Given the description of an element on the screen output the (x, y) to click on. 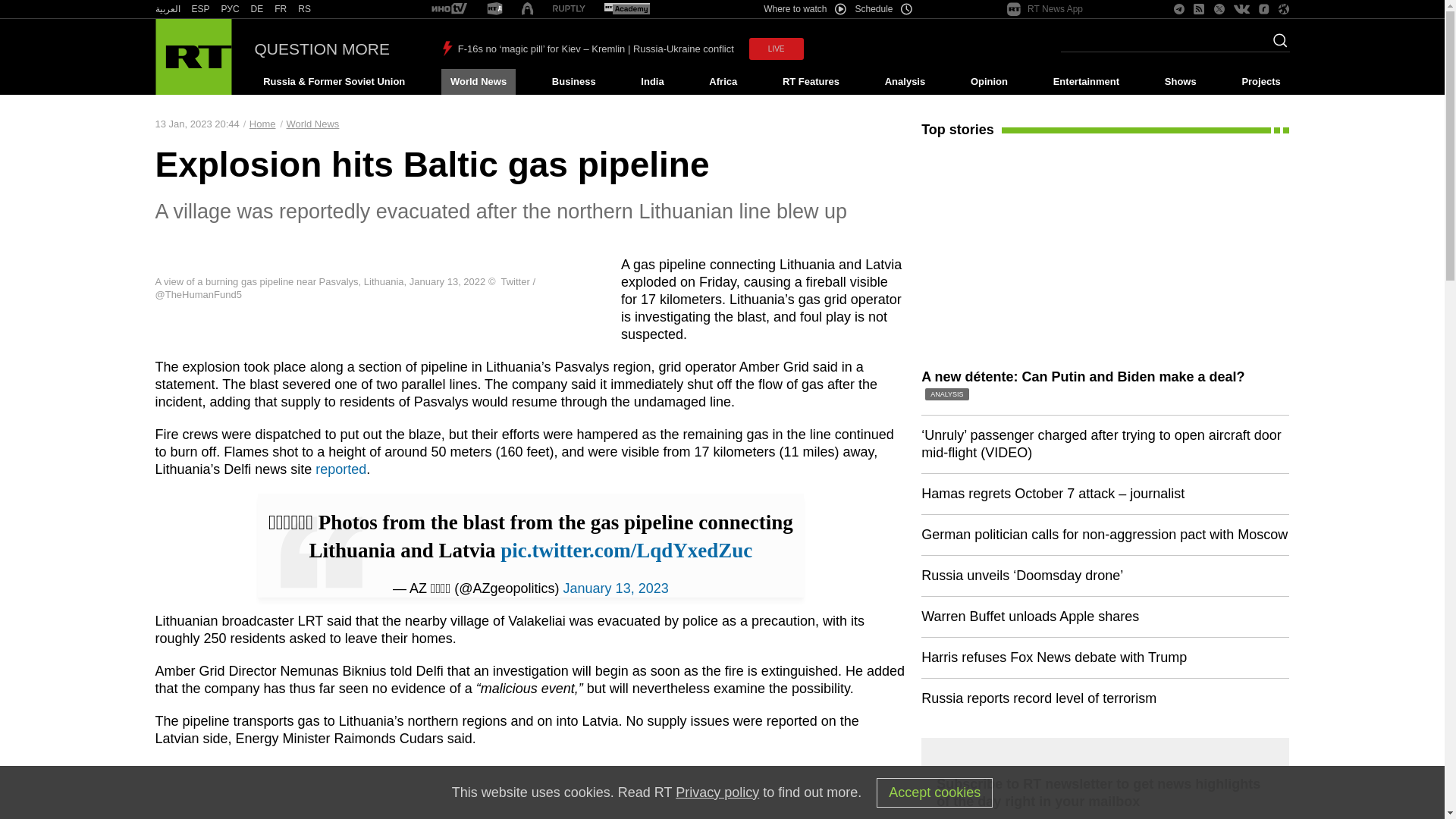
World News (478, 81)
RS (304, 9)
RT  (569, 8)
RT  (626, 9)
Opinion (988, 81)
Where to watch (803, 9)
QUESTION MORE (322, 48)
Projects (1261, 81)
RT  (280, 9)
India (651, 81)
Shows (1180, 81)
Search (1276, 44)
ESP (199, 9)
Business (573, 81)
LIVE (776, 48)
